Given the description of an element on the screen output the (x, y) to click on. 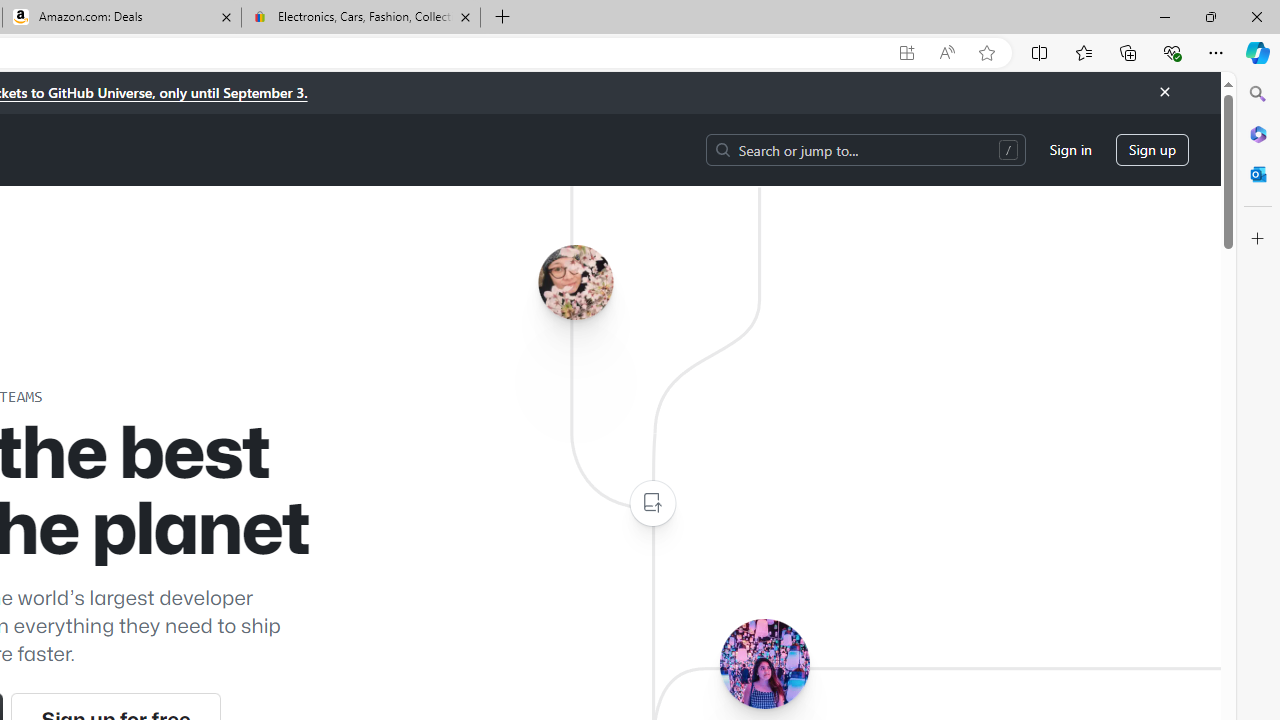
Avatar of the user teenage-witch (764, 663)
Avatar of the user ohjoycelau (575, 281)
App available. Install GitHub (906, 53)
